Given the description of an element on the screen output the (x, y) to click on. 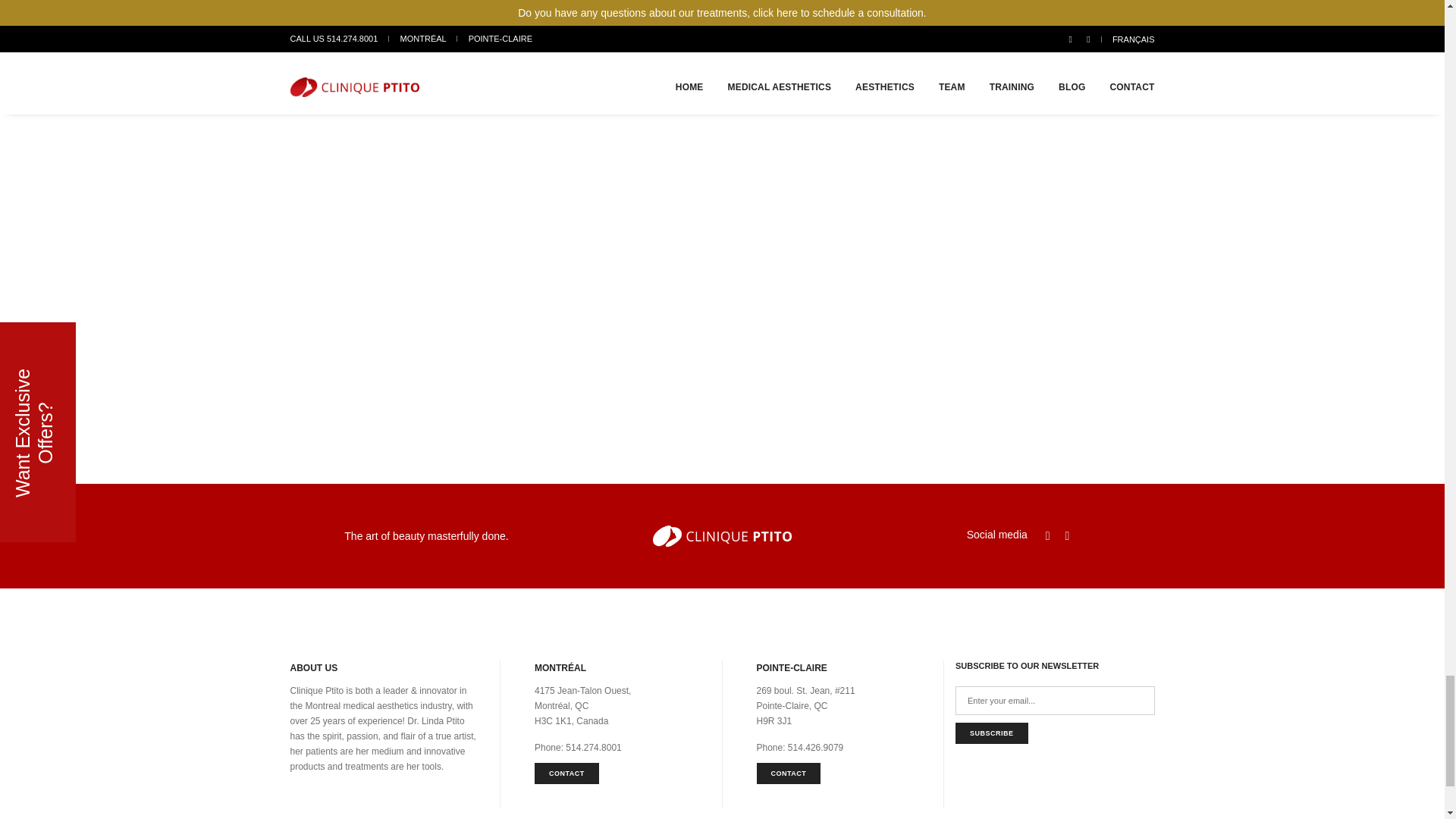
Subscribe (991, 732)
